Given the description of an element on the screen output the (x, y) to click on. 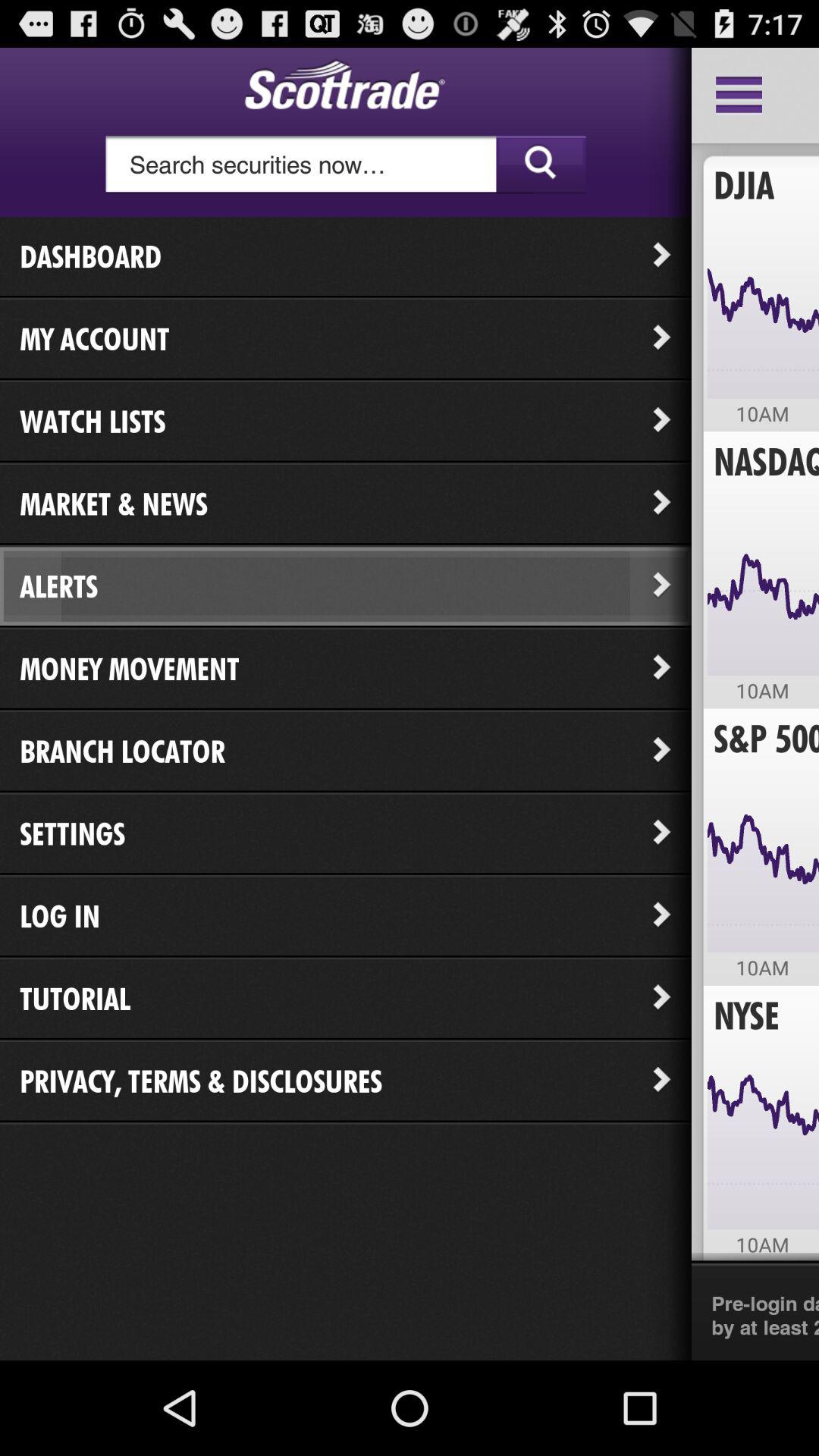
cursor to search bar (345, 164)
